Given the description of an element on the screen output the (x, y) to click on. 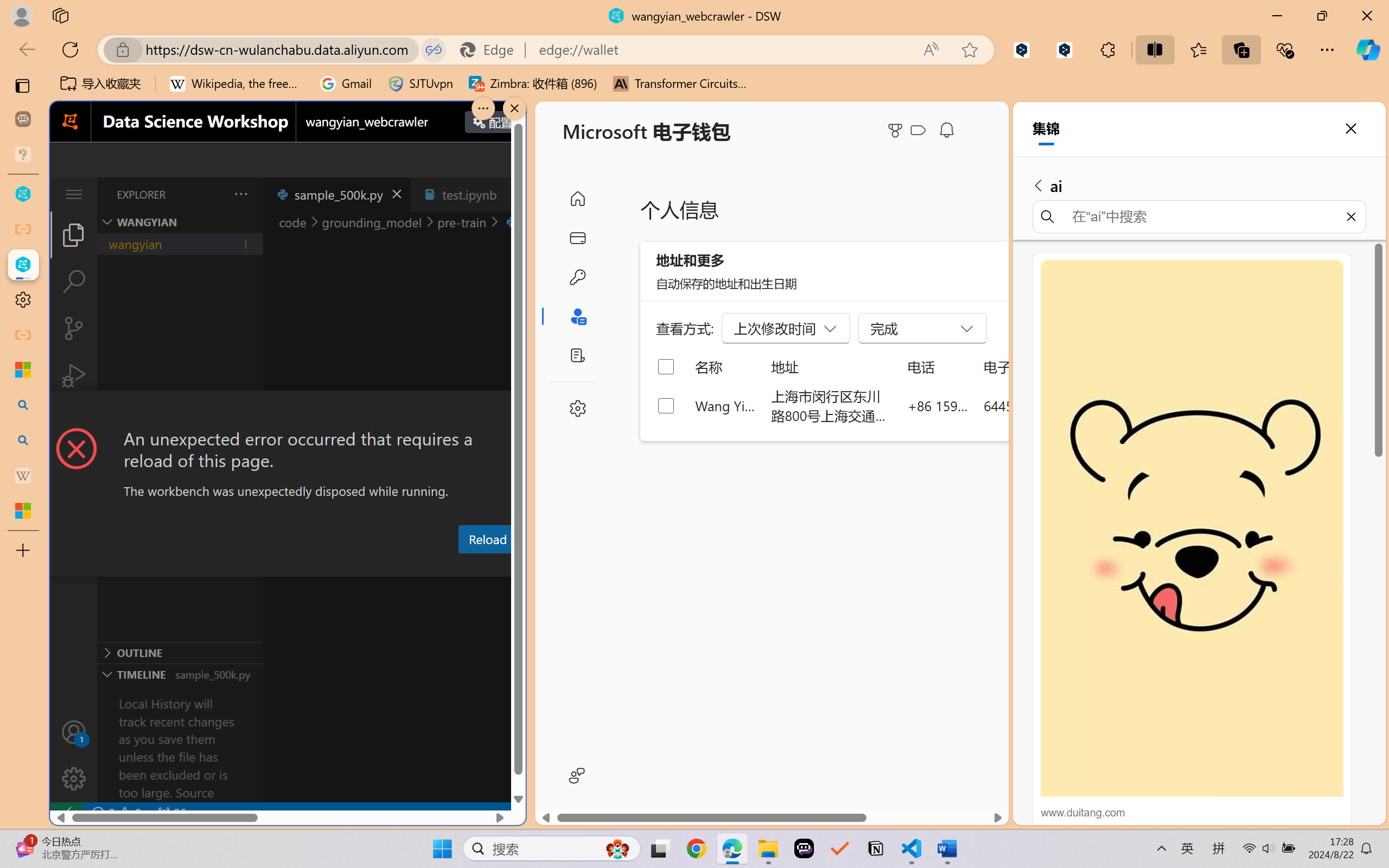
Microsoft security help and learning (22, 369)
Explorer Section: wangyian (179, 221)
Class: menubar compact overflow-menu-only (73, 194)
Transformer Circuits Thread (680, 83)
Copilot (Ctrl+Shift+.) (1368, 49)
Timeline Section (179, 673)
Views and More Actions... (240, 193)
Terminal (Ctrl+`) (553, 565)
